Given the description of an element on the screen output the (x, y) to click on. 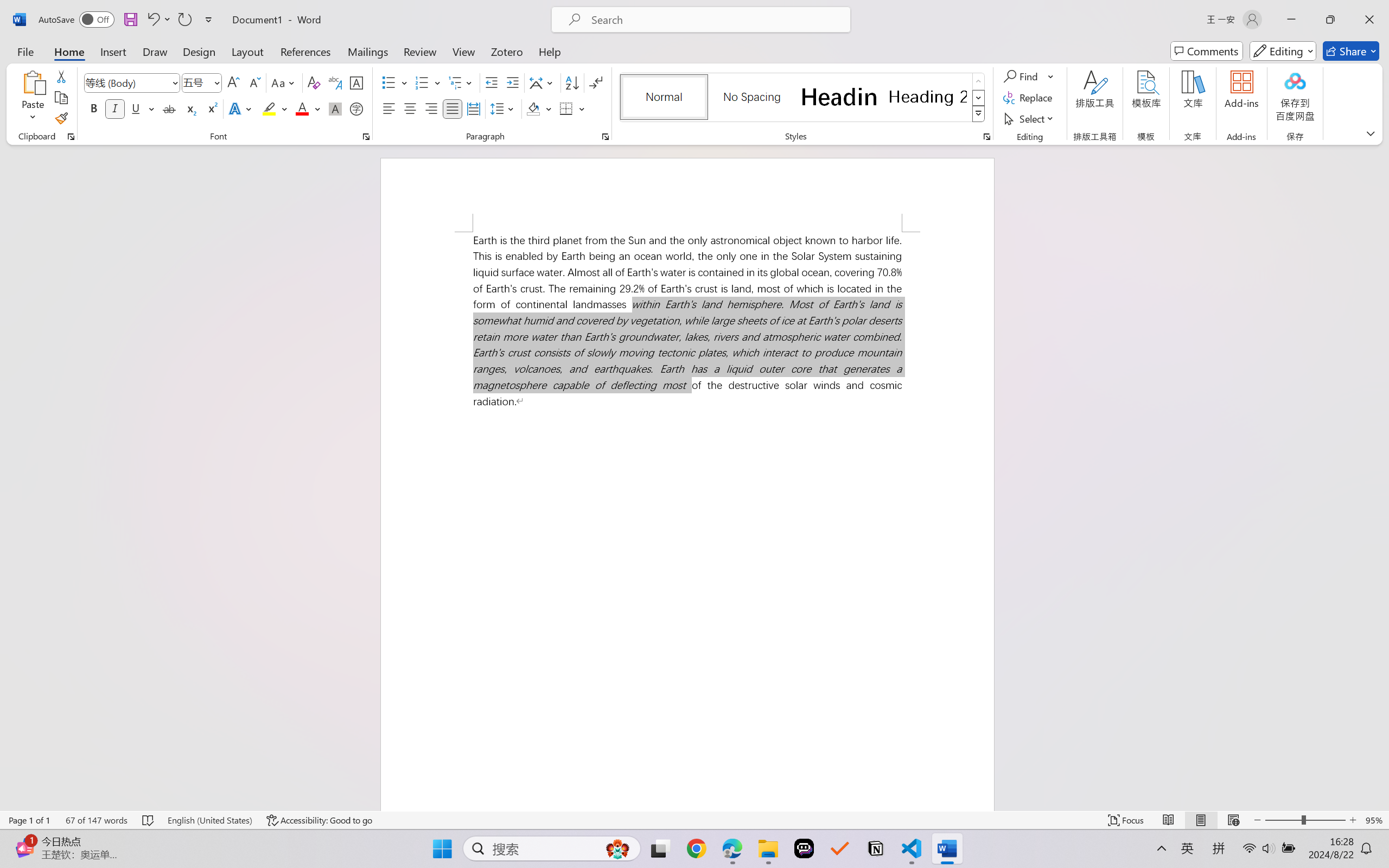
Home (1164, 162)
View (376, 29)
Minimize (1325, 10)
Spell Check No Errors (52, 837)
From Beginning... (85, 62)
Restore Down (1350, 10)
Close (1376, 10)
Zoom Out (1307, 837)
From Beginning (126, 9)
Screen Recording (157, 62)
Zoom 260% (1364, 837)
Page up (1131, 222)
Cameo (49, 51)
Redo (111, 9)
